Given the description of an element on the screen output the (x, y) to click on. 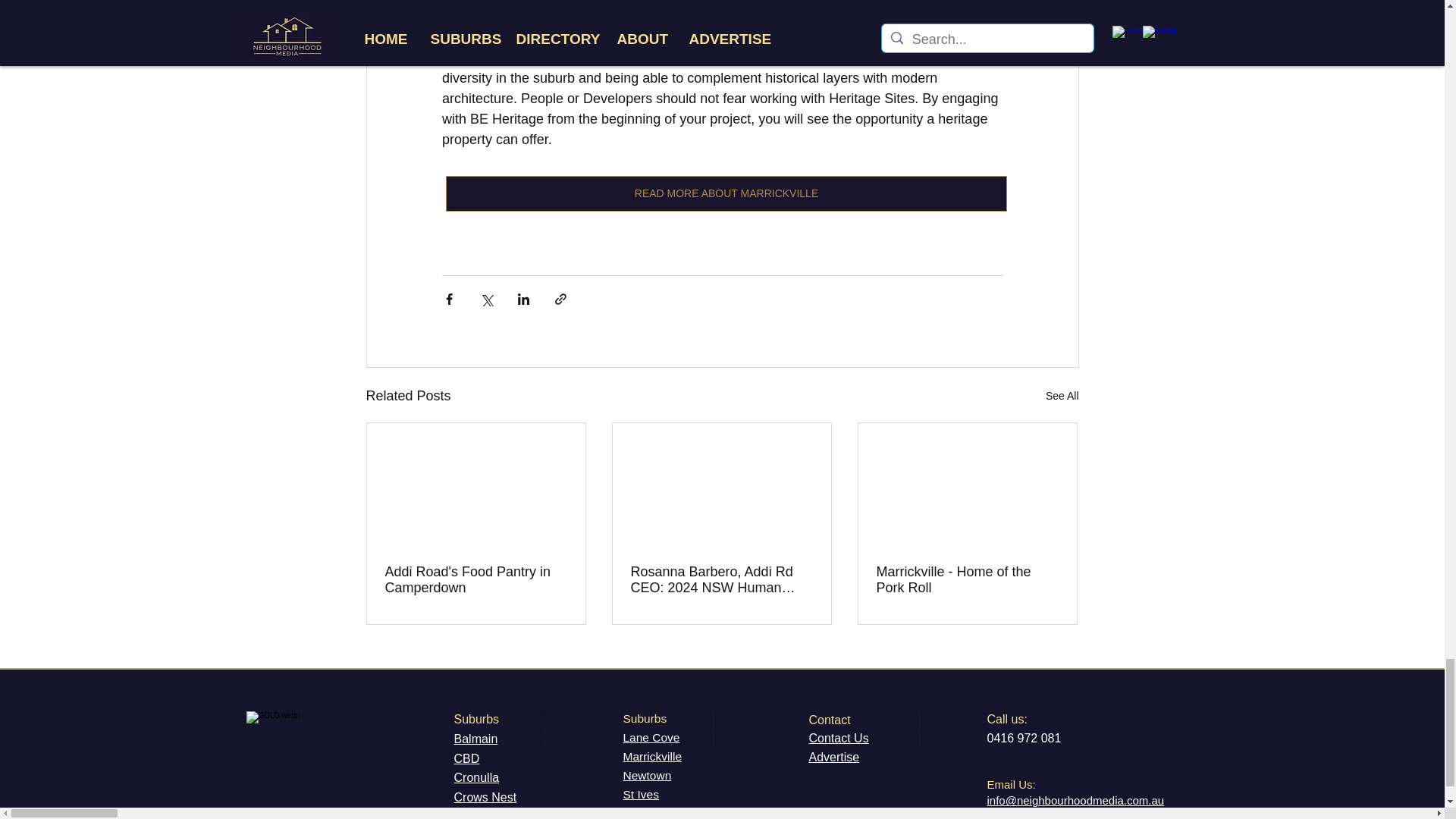
Balmain (474, 738)
Marrickville - Home of the Pork Roll  (967, 580)
READ MORE ABOUT MARRICKVILLE (726, 193)
Addi Road's Food Pantry in Camperdown (476, 580)
See All (1061, 395)
